Given the description of an element on the screen output the (x, y) to click on. 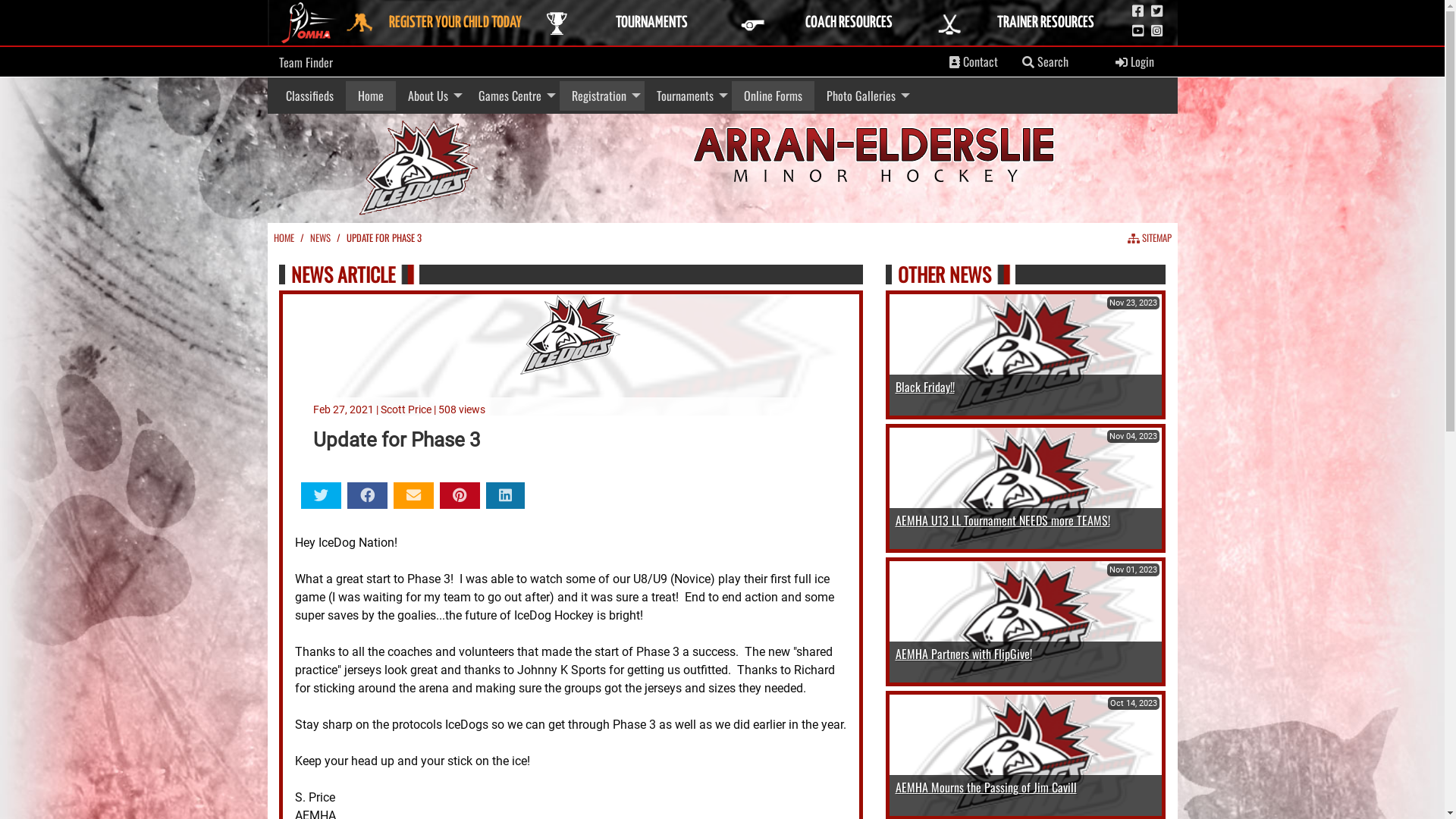
NEWS Element type: text (319, 237)
Classifieds Element type: text (309, 95)
 Search Element type: text (1045, 61)
Photo Galleries Element type: text (863, 95)
Home Element type: text (370, 95)
OMHA Twitter Account Element type: hover (1156, 11)
AEMHA Partners with FlipGive! Element type: text (962, 653)
REGISTER YOUR CHILD TODAY Element type: text (438, 22)
AEMHA Mourns the Passing of Jim Cavill Element type: text (985, 787)
Link to OMHA Website Element type: hover (310, 22)
Tournaments Element type: text (687, 95)
HOME Element type: text (283, 237)
 Login Element type: text (1133, 61)
Black Friday!! Element type: text (923, 386)
AEMHA U13 LL Tournament NEEDS more TEAMS! Element type: text (1001, 520)
OMHA Facebook Page Element type: hover (1136, 11)
OMHA Instagram Page Element type: hover (1156, 30)
OMHA YouTube Channel Element type: hover (1136, 30)
TOURNAMENTS Element type: text (635, 22)
Search Element type: hover (1028, 62)
TRAINER RESOURCES Element type: text (1029, 22)
Contacts Element type: hover (954, 62)
 Contact Element type: text (973, 61)
Team Finder Element type: text (305, 62)
About Us Element type: text (430, 95)
Registration Element type: text (601, 95)
COACH RESOURCES Element type: text (832, 22)
Games Centre Element type: text (511, 95)
Online Forms Element type: text (772, 95)
 SITEMAP Element type: text (1148, 237)
